Given the description of an element on the screen output the (x, y) to click on. 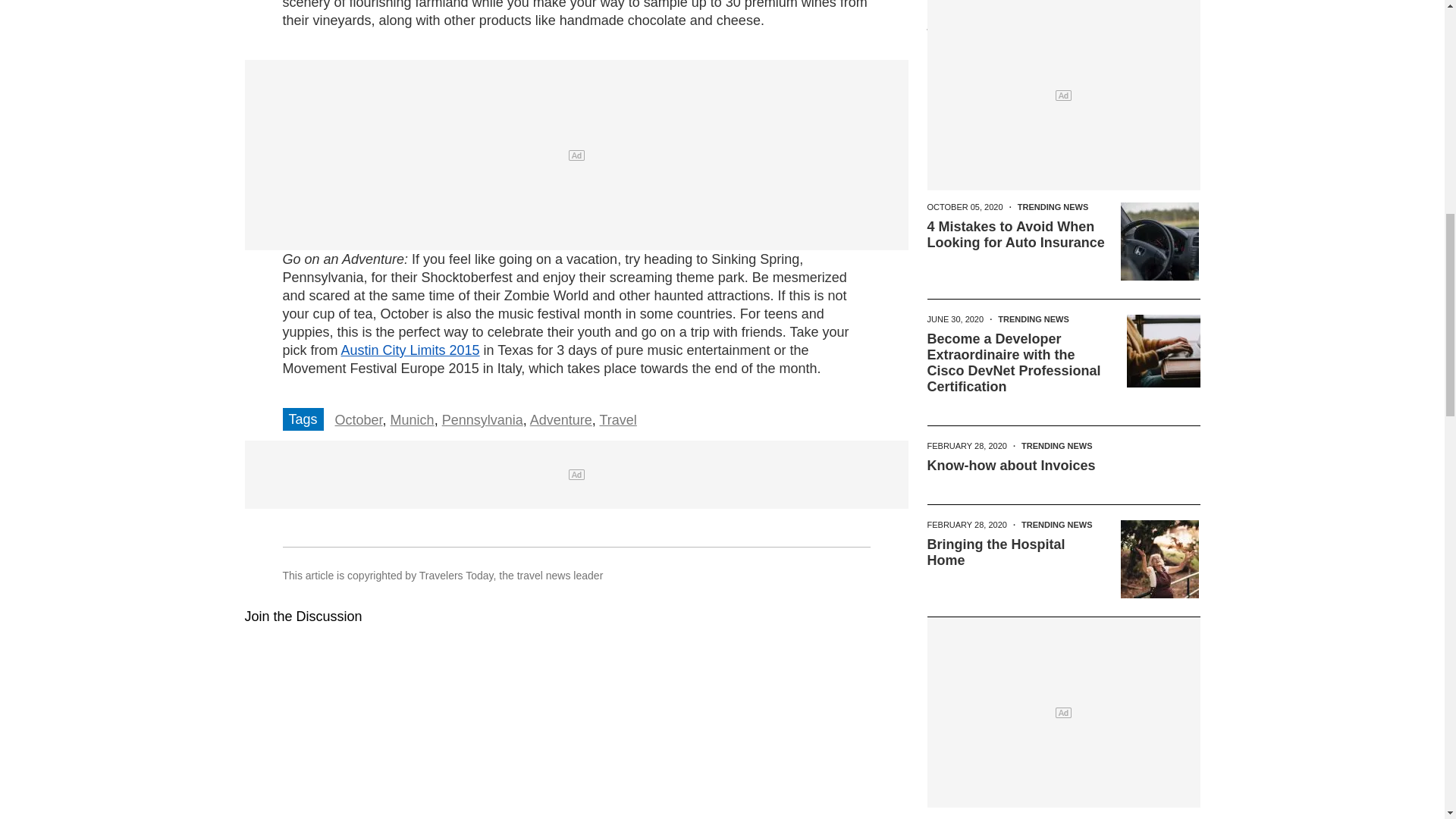
October (358, 419)
TRENDING NEWS (1053, 206)
Adventure (560, 419)
Munich (411, 419)
LEISURE (1035, 94)
Eye-Shaped Jewelry: A Beautiful and Powerful Talisman (1000, 20)
4 Mistakes to Avoid When Looking for Auto Insurance (1014, 234)
Pennsylvania (482, 419)
Austin City Limits 2015 (410, 350)
